Given the description of an element on the screen output the (x, y) to click on. 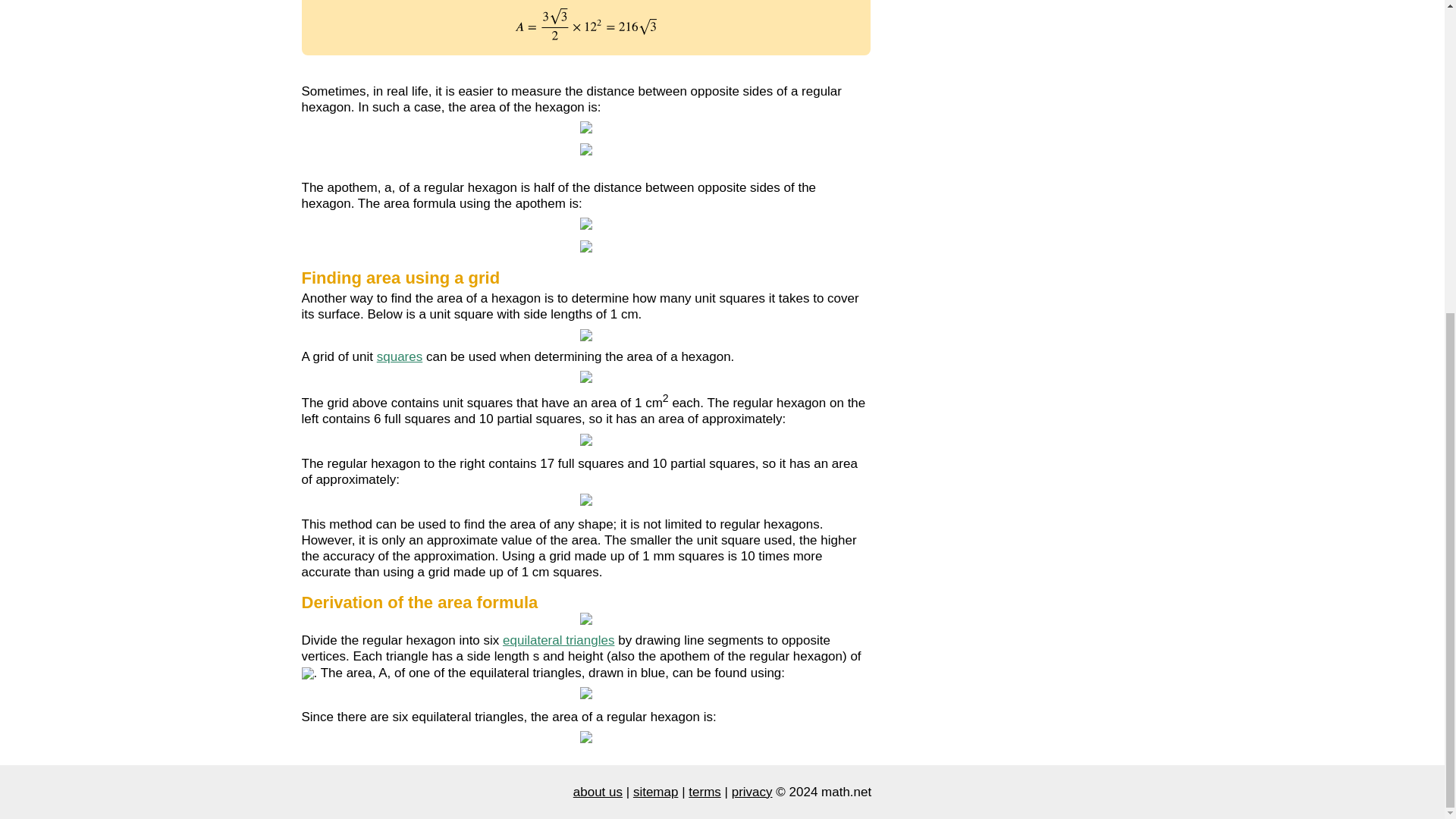
about us (598, 791)
terms (704, 791)
sitemap (655, 791)
equilateral triangles (558, 640)
privacy (752, 791)
squares (399, 356)
